Given the description of an element on the screen output the (x, y) to click on. 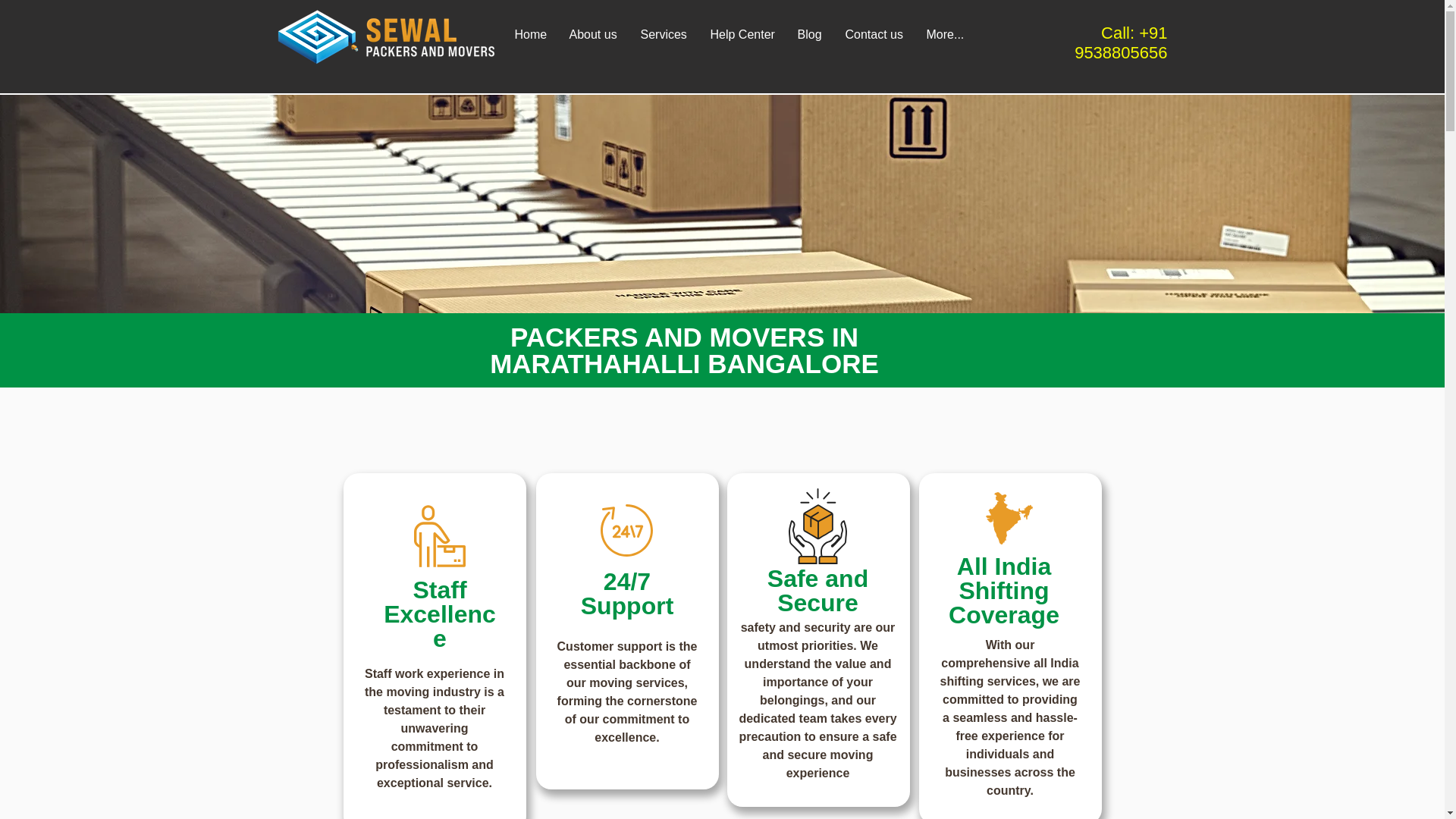
Blog (809, 34)
Services (662, 34)
About us (591, 34)
Help Center (740, 34)
Home (530, 34)
Logo-03.png (384, 34)
Contact us (873, 34)
